Given the description of an element on the screen output the (x, y) to click on. 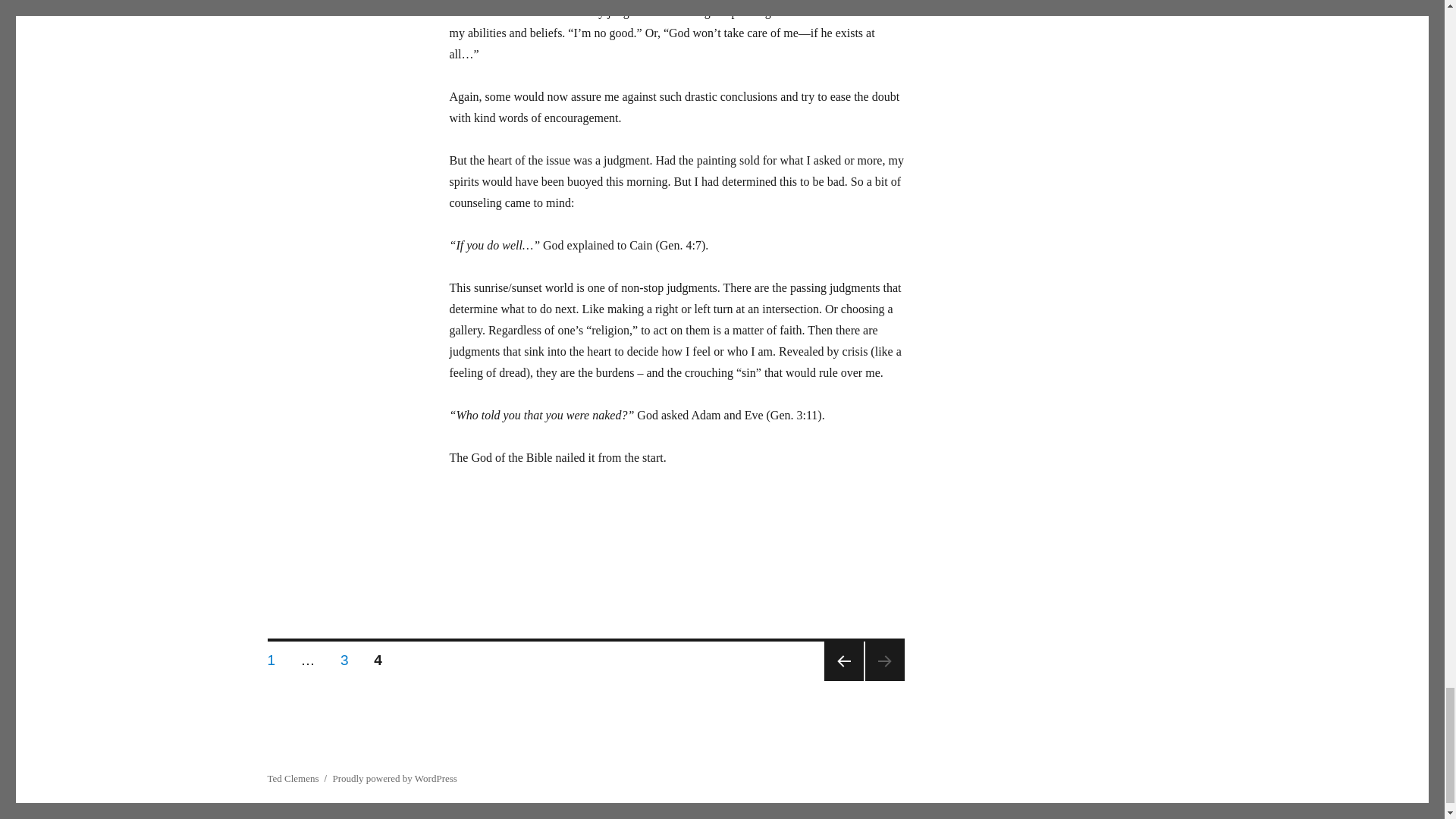
PREVIOUS PAGE (271, 657)
